Given the description of an element on the screen output the (x, y) to click on. 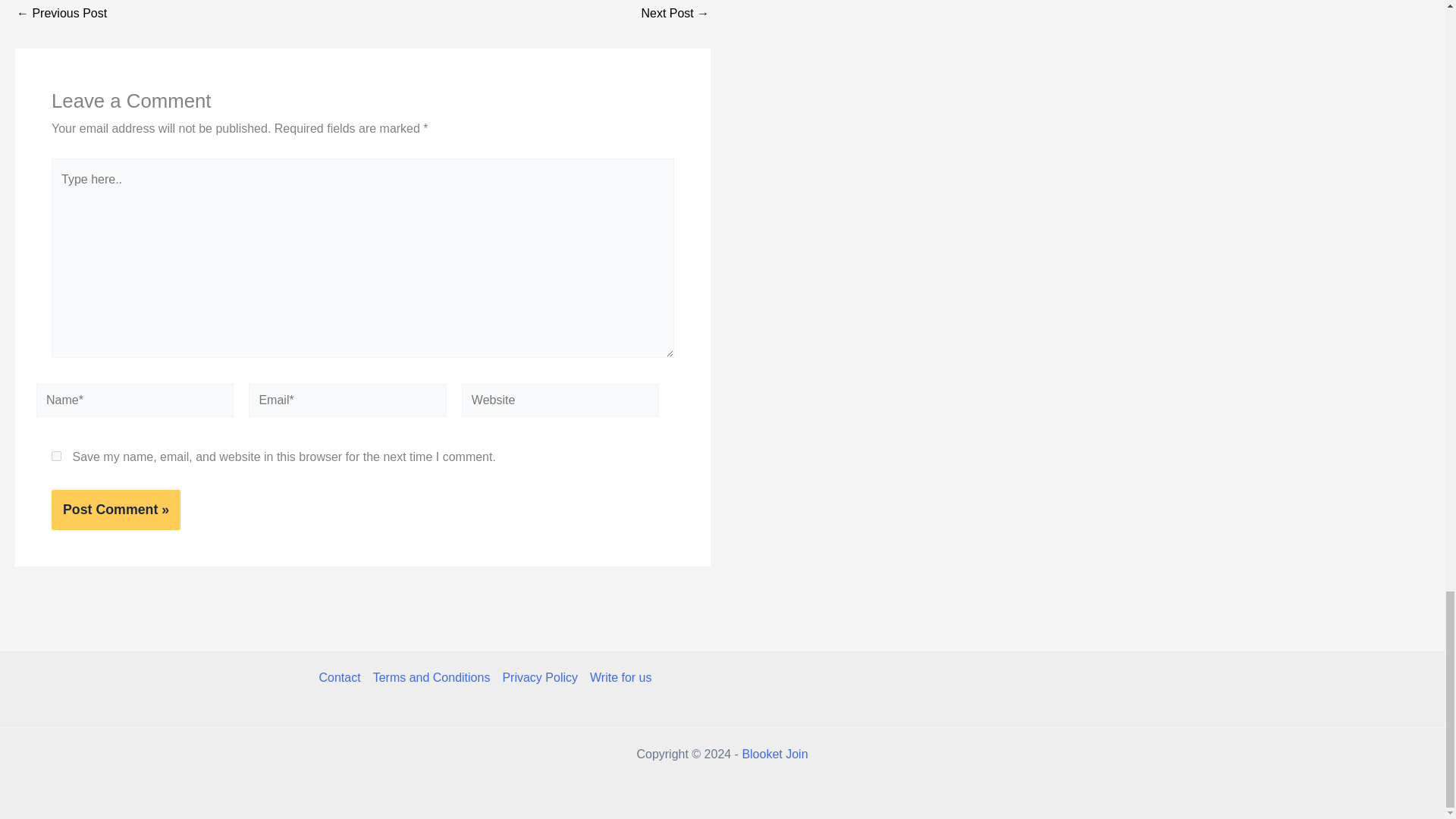
Advantages of Preservative Free Nasal Sprays (61, 13)
Opti-Channel and the Future of Banking (674, 13)
yes (55, 456)
